Given the description of an element on the screen output the (x, y) to click on. 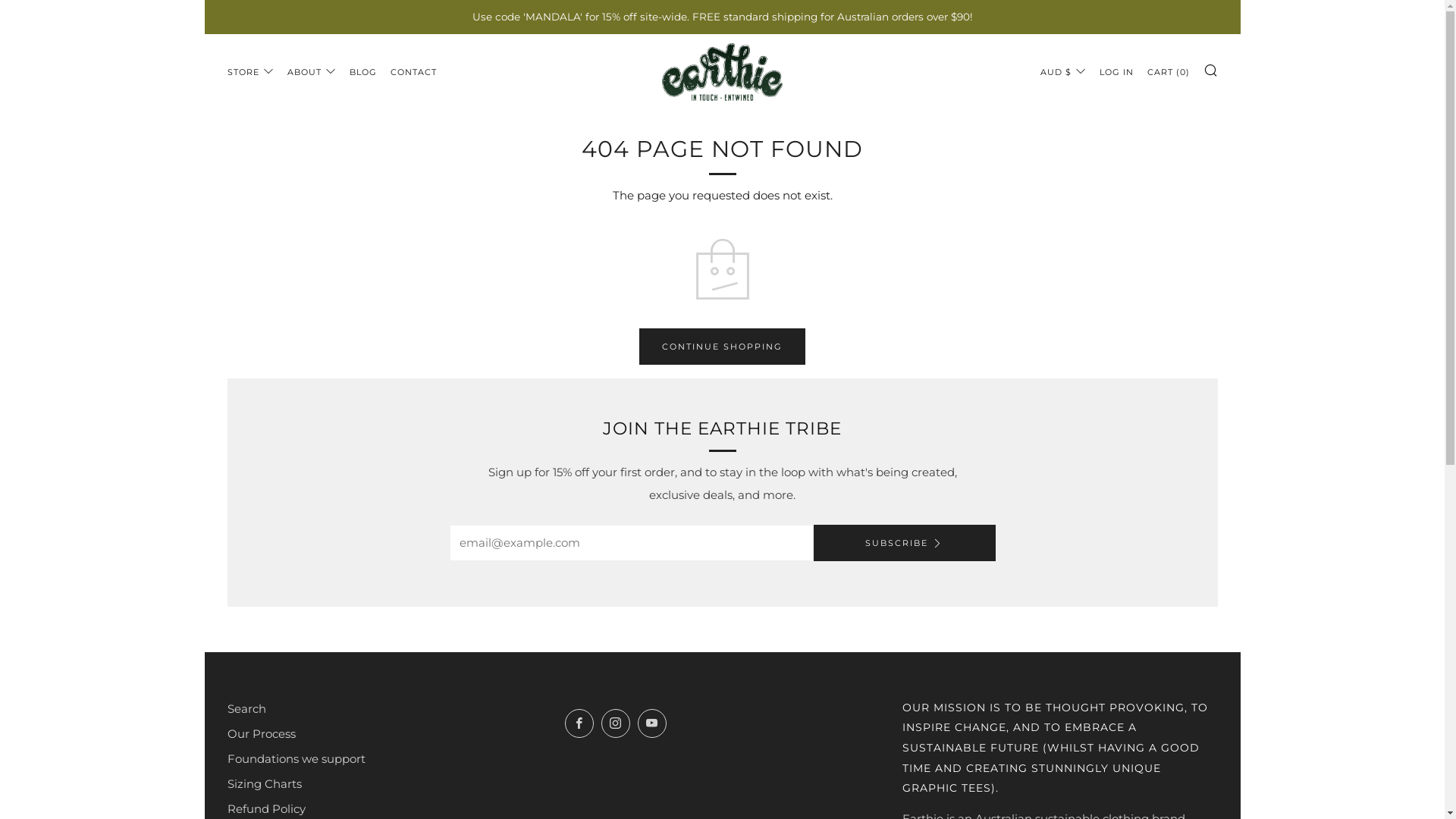
YouTube Element type: text (651, 723)
Sizing Charts Element type: text (264, 783)
SEARCH Element type: text (1209, 68)
LOG IN Element type: text (1116, 71)
Facebook Element type: text (578, 723)
BLOG Element type: text (362, 71)
ABOUT Element type: text (310, 71)
Instagram Element type: text (615, 723)
Search Element type: text (246, 708)
STORE Element type: text (250, 71)
Foundations we support Element type: text (296, 758)
AUD $ Element type: text (1062, 71)
Refund Policy Element type: text (266, 808)
Our Process Element type: text (261, 733)
SUBSCRIBE Element type: text (903, 542)
CONTACT Element type: text (412, 71)
CART (0) Element type: text (1167, 71)
CONTINUE SHOPPING Element type: text (722, 345)
